Given the description of an element on the screen output the (x, y) to click on. 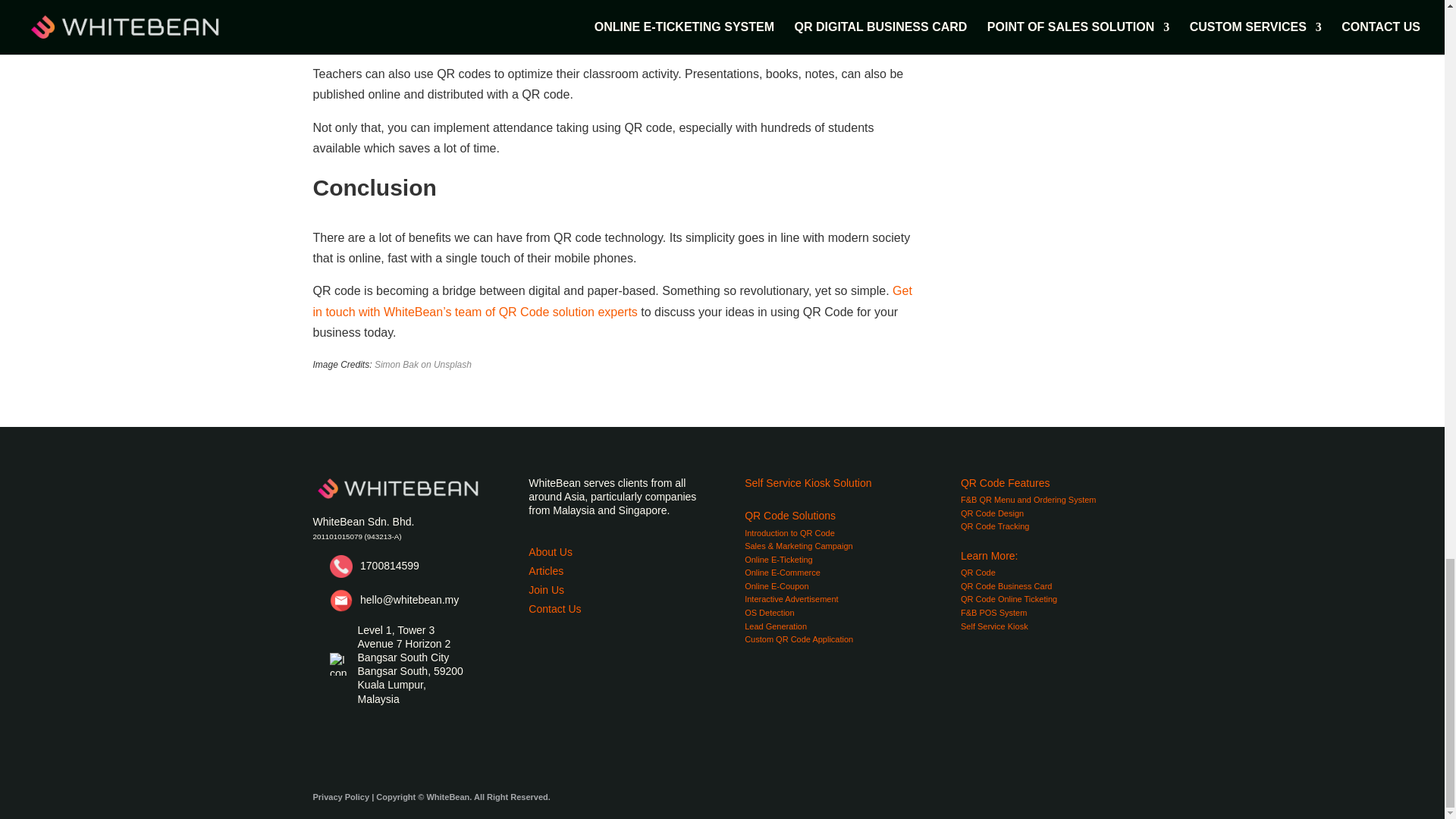
QR Code Tracking (994, 525)
Lead Generation (775, 625)
Self Service Kiosk Solution (807, 482)
Join Us (546, 589)
Online E-Coupon (776, 585)
QR Code Online Ticketing (1008, 598)
Contact Us (554, 608)
Interactive Advertisement (791, 598)
Online E-Commerce (782, 572)
OS Detection (768, 612)
QR Code Design (991, 512)
QR Code Features (1004, 482)
QR Code Business Card (1005, 585)
Simon Bak on Unsplash (422, 364)
Introduction to QR Code (789, 532)
